Given the description of an element on the screen output the (x, y) to click on. 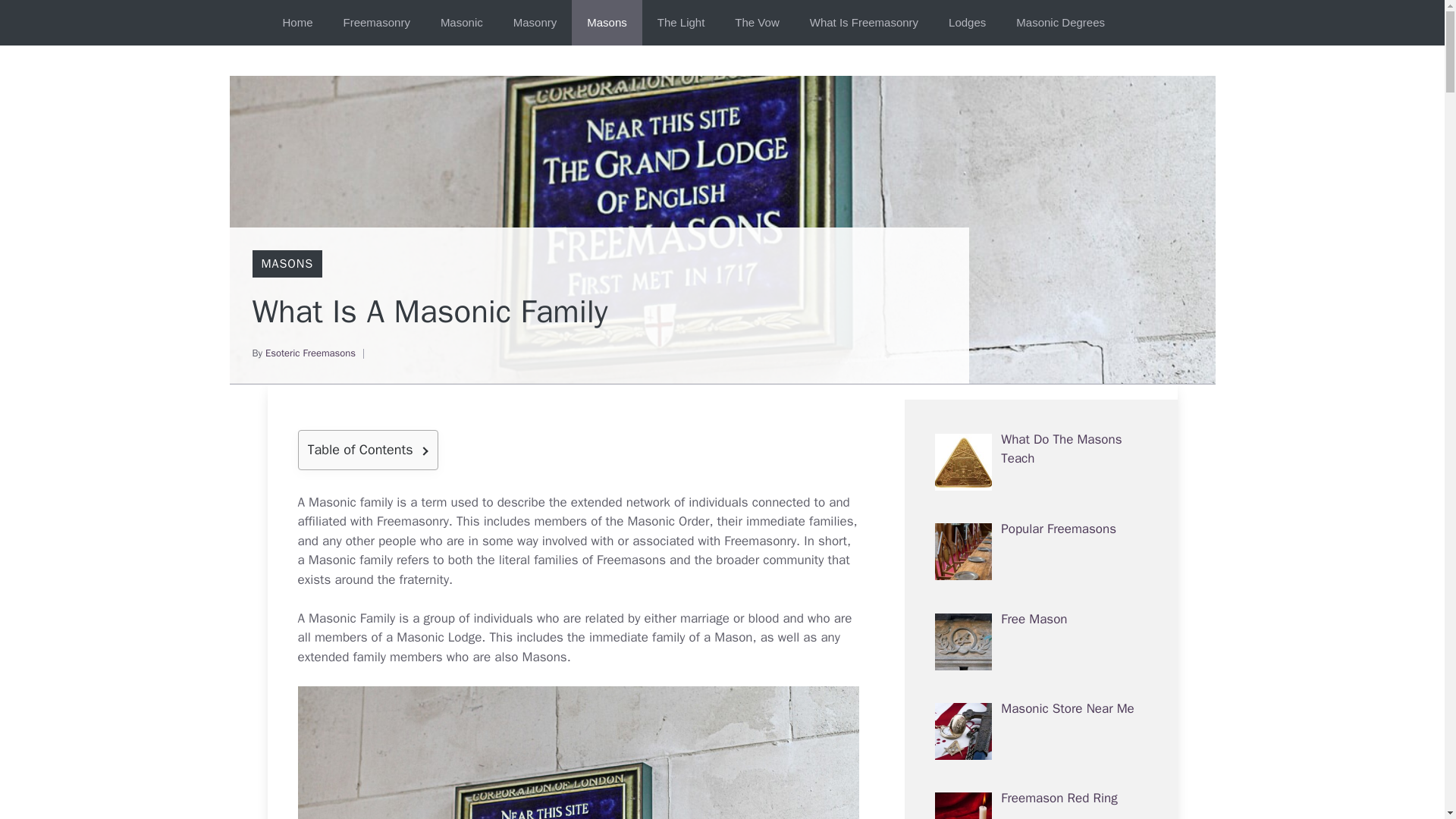
Freemasonry (377, 22)
Masons (607, 22)
Home (296, 22)
Freemasonry (412, 521)
The Vow (756, 22)
Masonic Order (668, 521)
Masons (544, 657)
Masonic Lodge (438, 637)
Masonry (534, 22)
Esoteric Freemasons (309, 352)
Masonic Degrees (1060, 22)
The Light (681, 22)
What Is Freemasonry (863, 22)
MASONS (286, 263)
A Mason (321, 618)
